Given the description of an element on the screen output the (x, y) to click on. 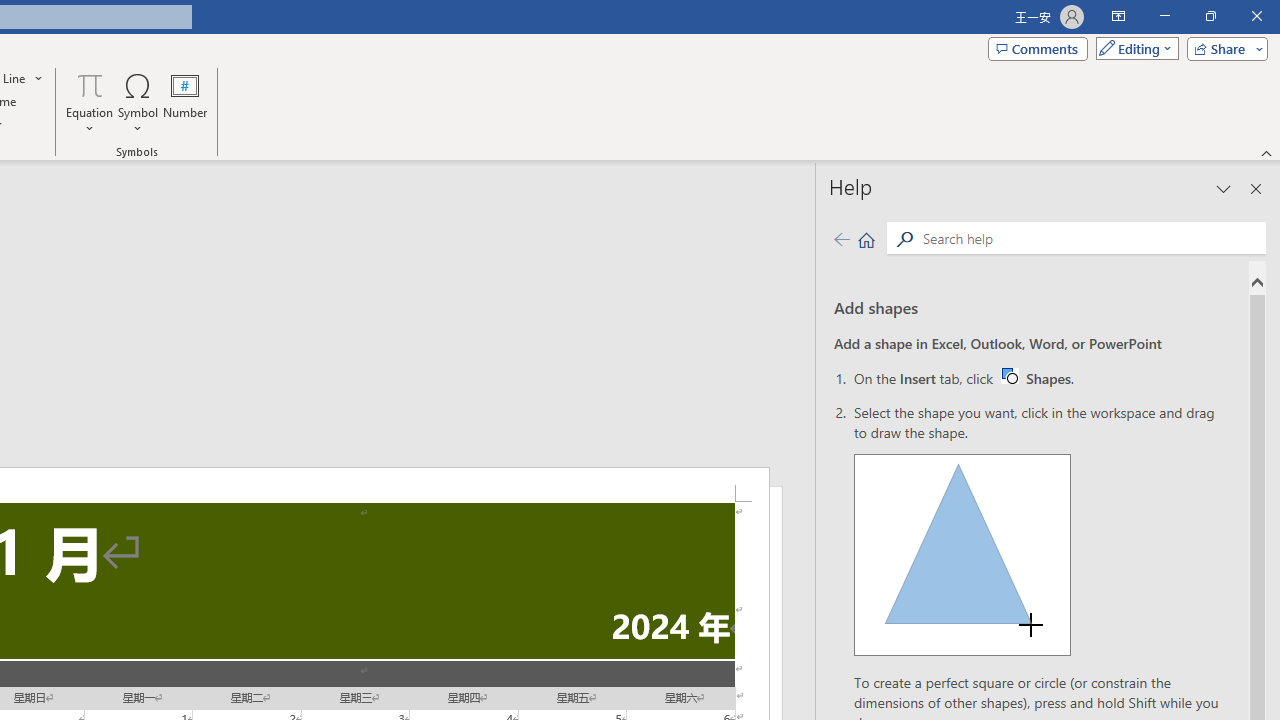
Number... (185, 102)
Drawing a shape (962, 554)
